Given the description of an element on the screen output the (x, y) to click on. 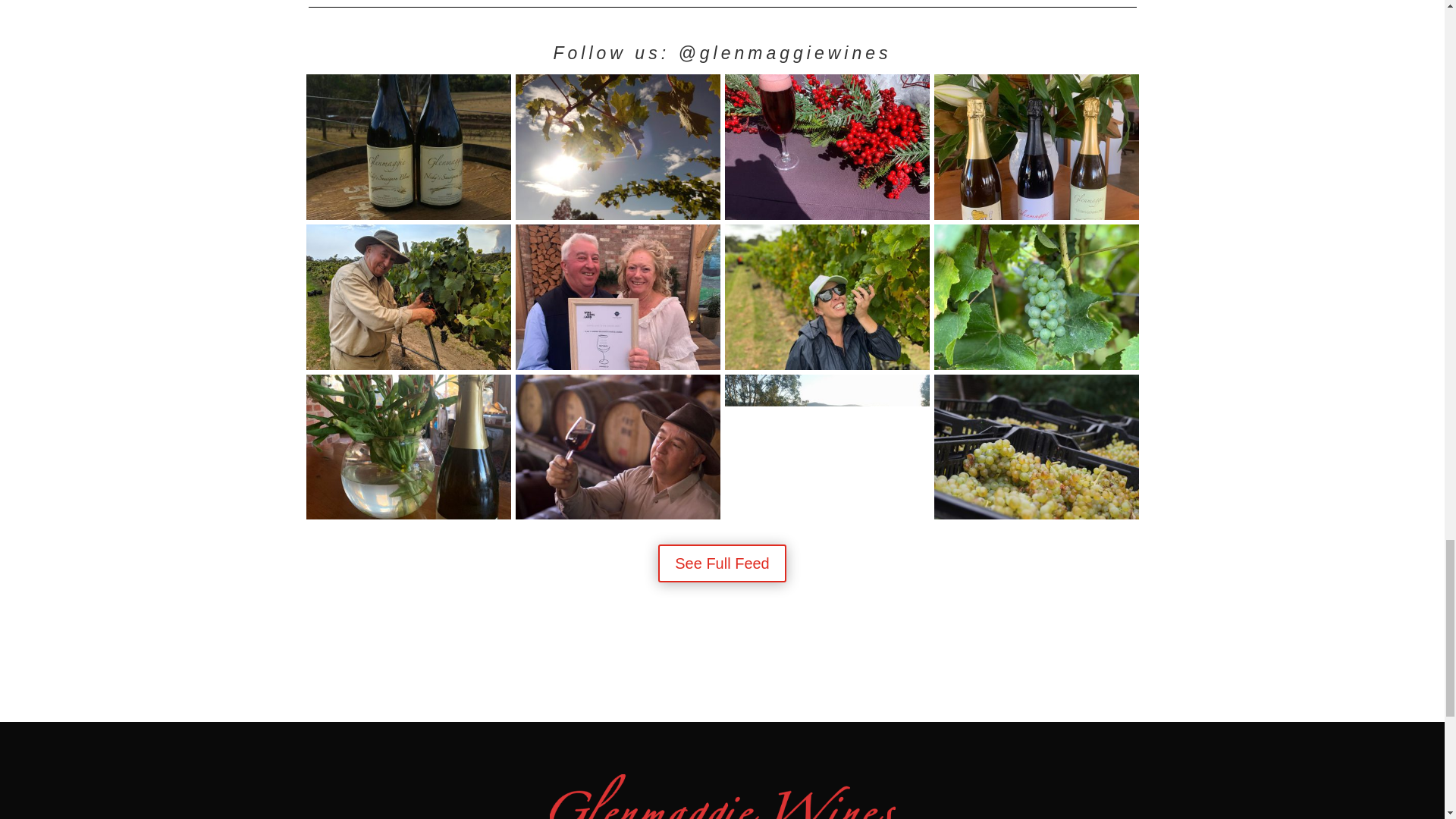
Our Wines (408, 515)
Our Wine (408, 215)
Our Vineyard (1036, 366)
Glenmaggie Wines (617, 515)
logo6-red (721, 796)
Our Wines (1036, 215)
Our Vineyard (1036, 515)
Glenmaggie Wine (827, 215)
Our achievement (617, 366)
Tony and Vineyard (408, 366)
Glenmaggie Wine (827, 515)
Our lovely guest (827, 366)
